Given the description of an element on the screen output the (x, y) to click on. 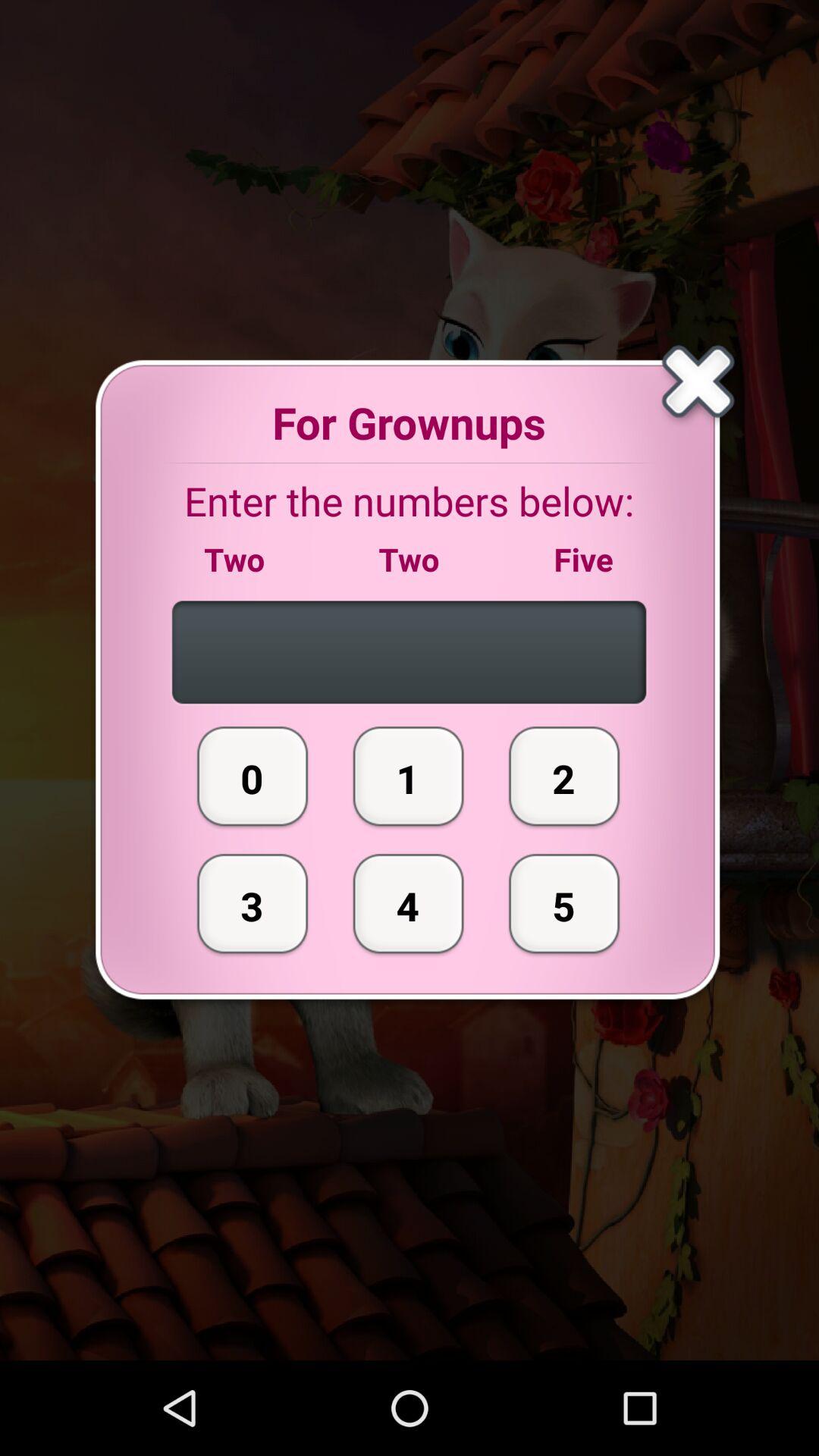
jump until the 3 item (252, 903)
